Given the description of an element on the screen output the (x, y) to click on. 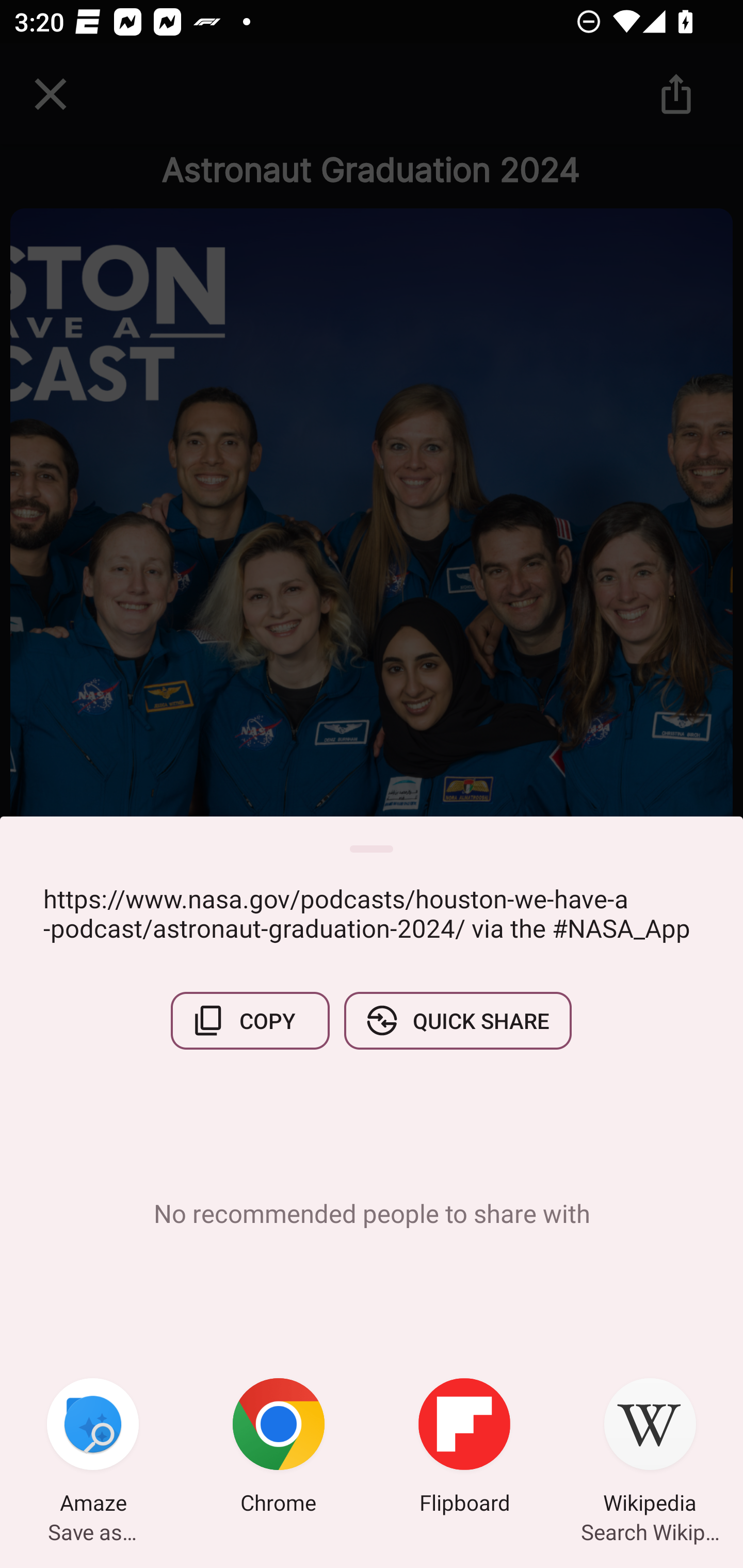
COPY (249, 1020)
QUICK SHARE (457, 1020)
Amaze Save as… (92, 1448)
Chrome (278, 1448)
Flipboard (464, 1448)
Wikipedia Search Wikipedia (650, 1448)
